Given the description of an element on the screen output the (x, y) to click on. 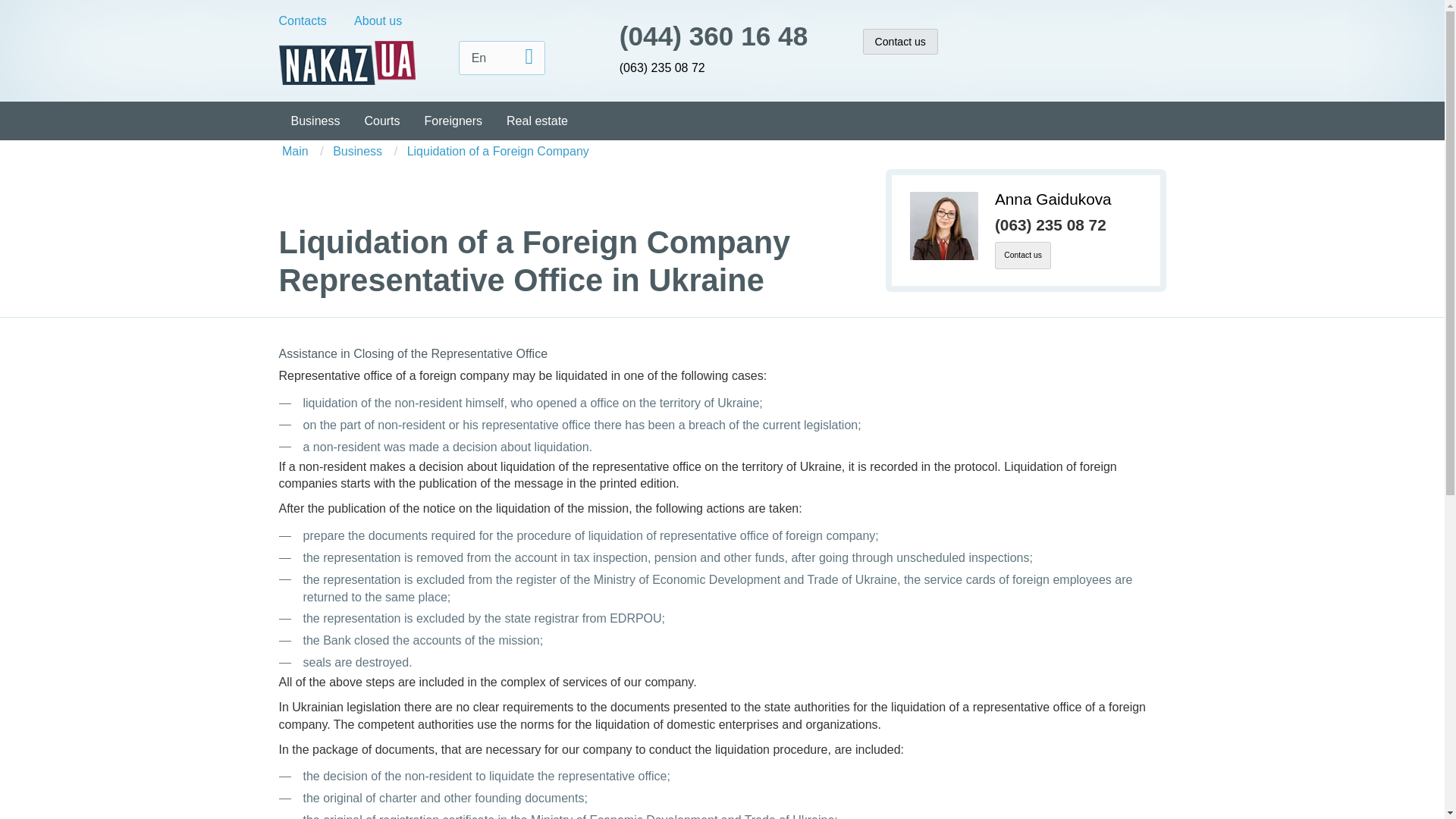
Foreigners (453, 120)
Business (357, 151)
Liquidation of a Foreign Company (498, 151)
About us (377, 21)
Contacts (302, 21)
En (502, 57)
Business (315, 120)
Contact us (900, 41)
Main (296, 151)
Real estate (536, 120)
